Given the description of an element on the screen output the (x, y) to click on. 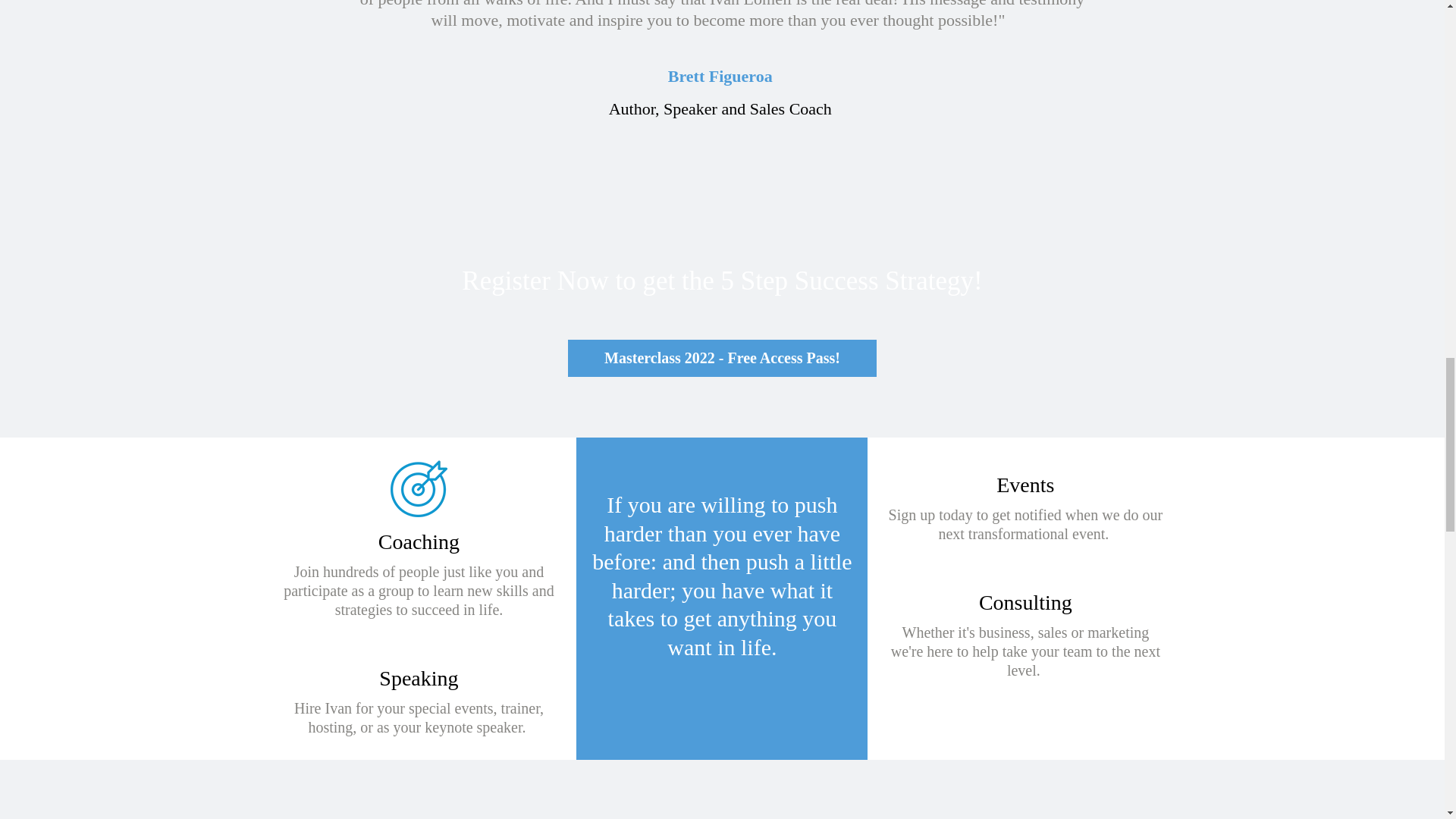
Masterclass 2022 - Free Access Pass! (721, 357)
